Given the description of an element on the screen output the (x, y) to click on. 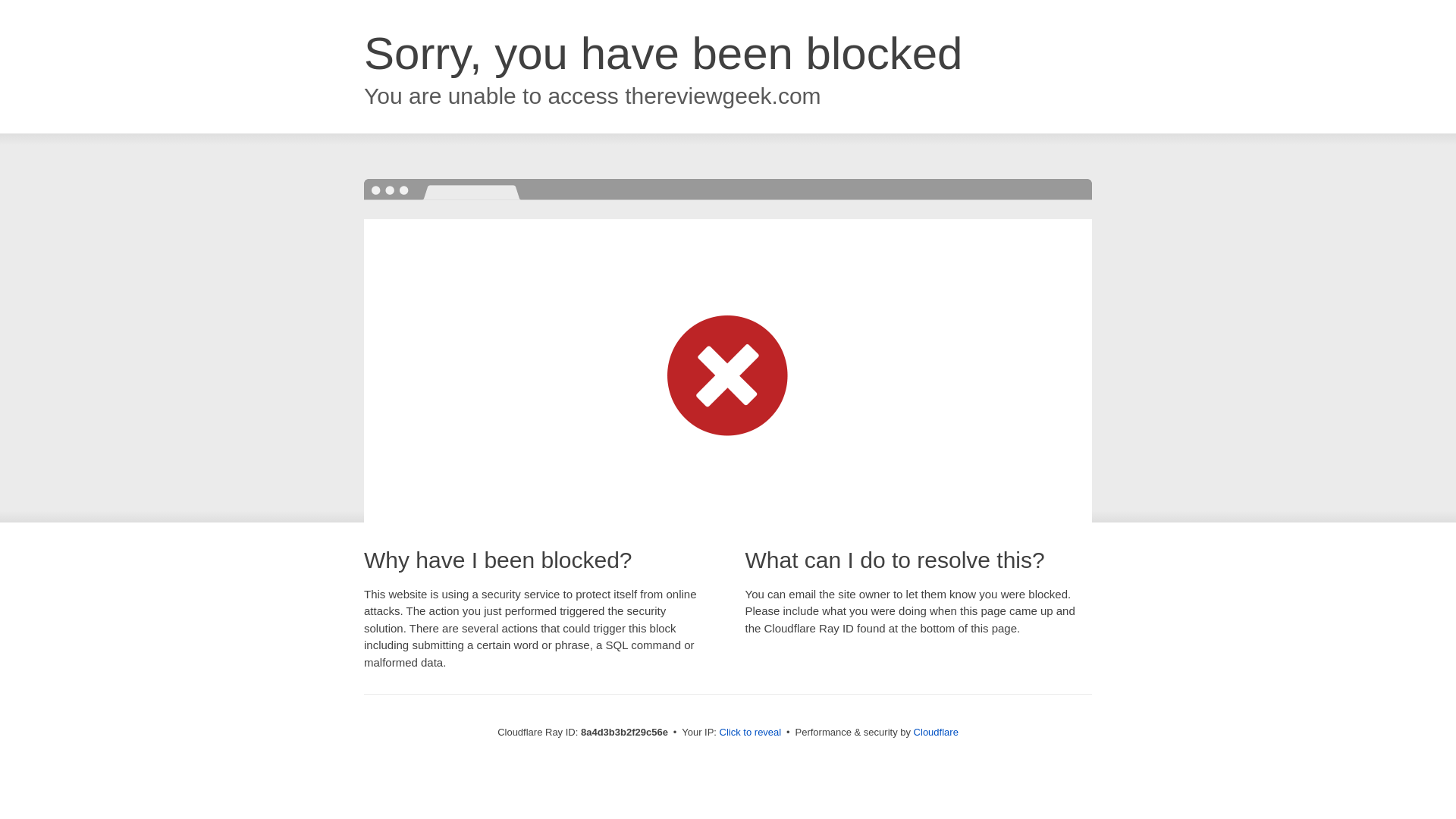
Cloudflare (936, 731)
Click to reveal (750, 732)
